Given the description of an element on the screen output the (x, y) to click on. 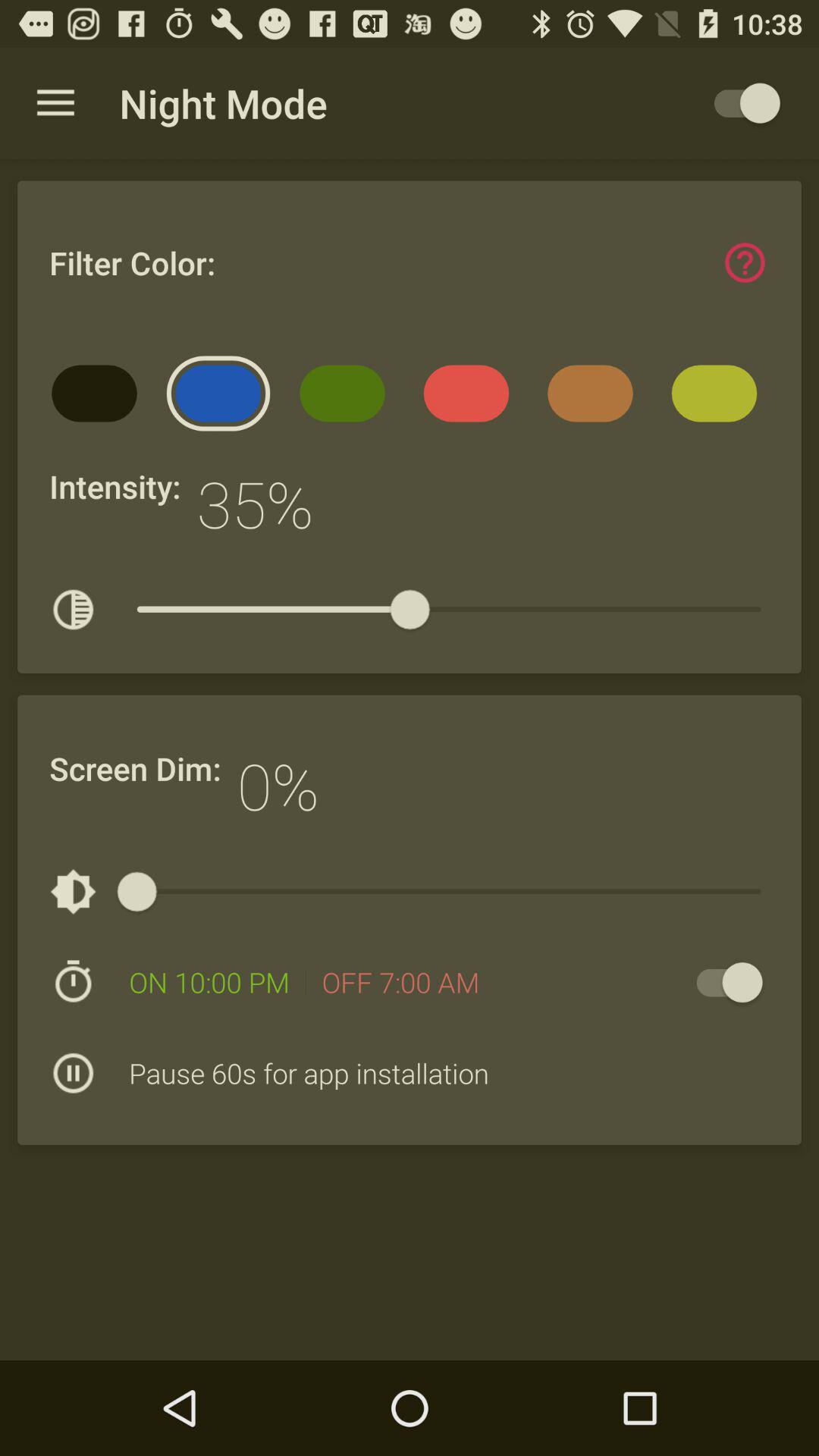
get help for setting (744, 262)
